Given the description of an element on the screen output the (x, y) to click on. 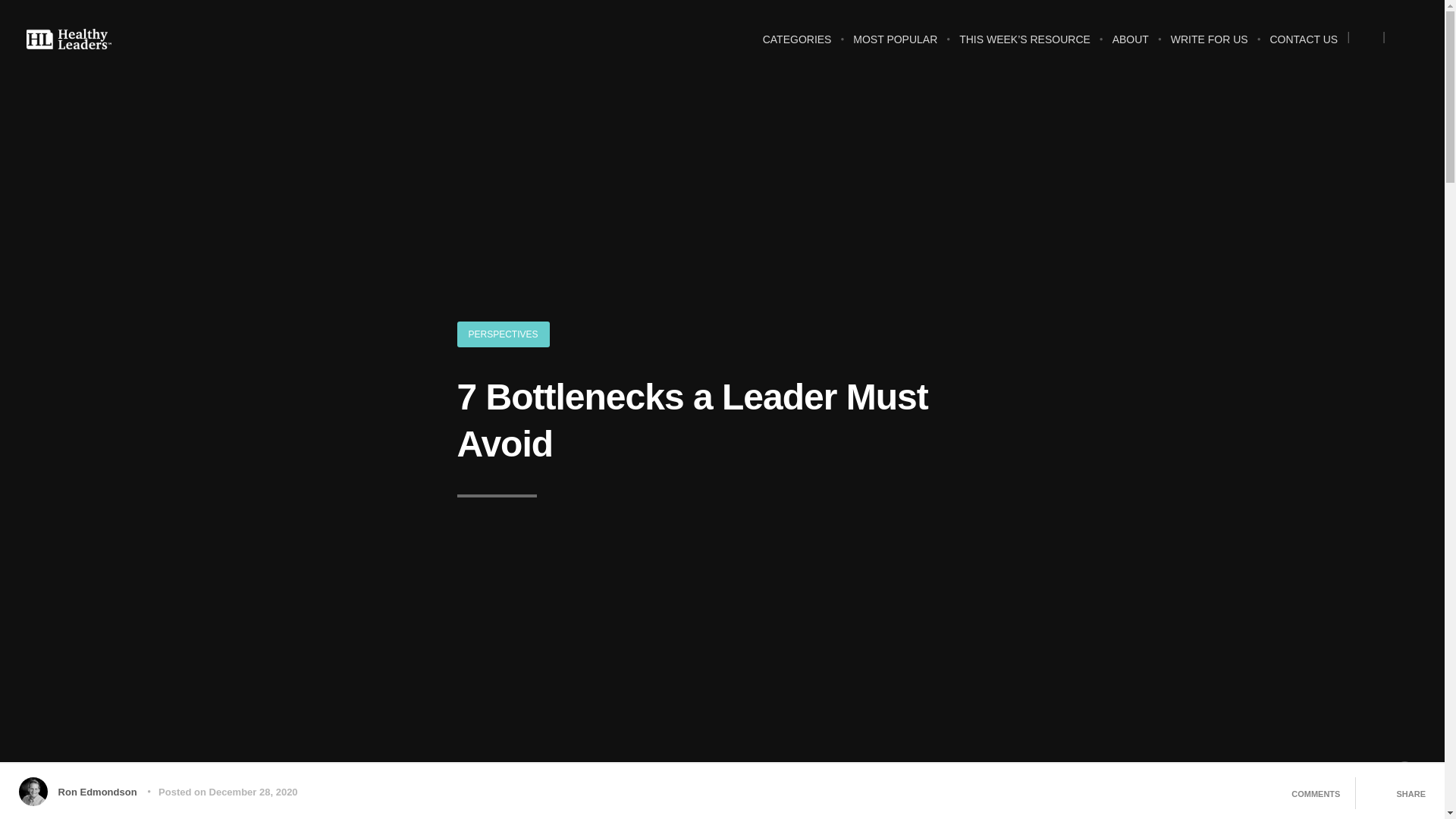
WRITE FOR US (1209, 43)
CONTACT US (1303, 43)
MOST POPULAR (895, 43)
ABOUT (1130, 43)
PERSPECTIVES (502, 334)
CATEGORIES (797, 43)
